Given the description of an element on the screen output the (x, y) to click on. 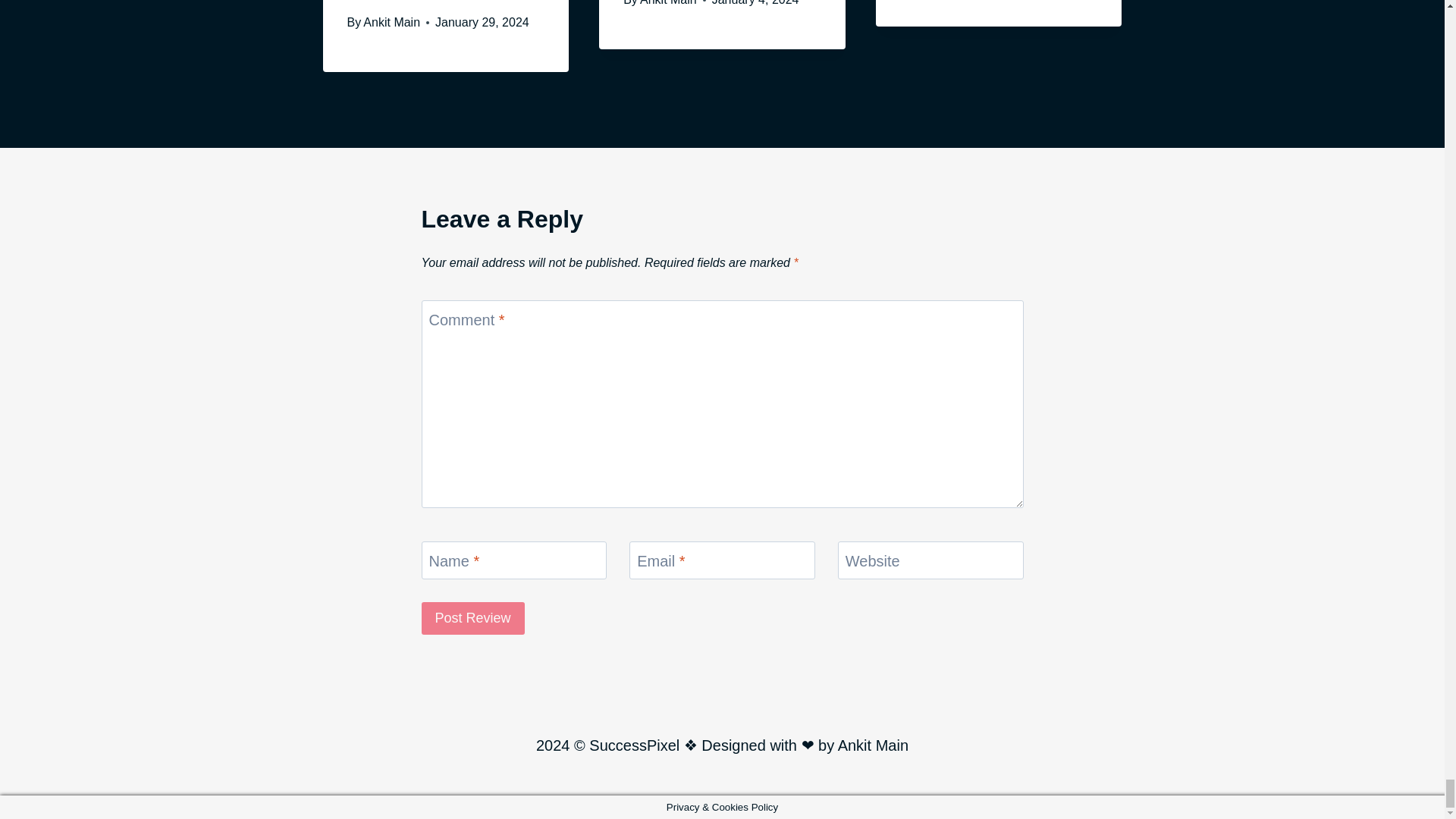
Post Review (473, 617)
